Given the description of an element on the screen output the (x, y) to click on. 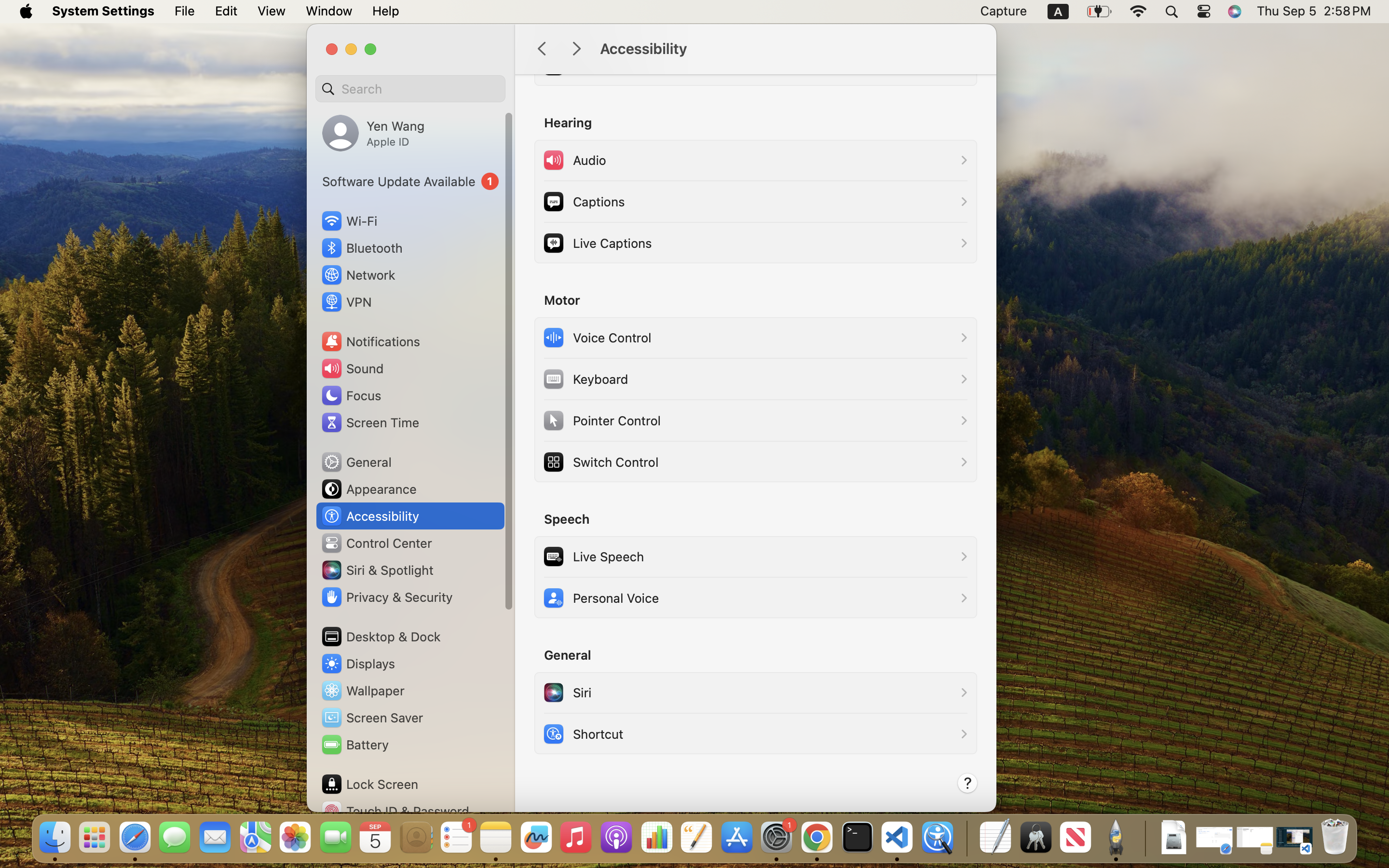
Network Element type: AXStaticText (357, 274)
Battery Element type: AXStaticText (354, 744)
0.4285714328289032 Element type: AXDockItem (965, 837)
General Element type: AXStaticText (355, 461)
Appearance Element type: AXStaticText (368, 488)
